Given the description of an element on the screen output the (x, y) to click on. 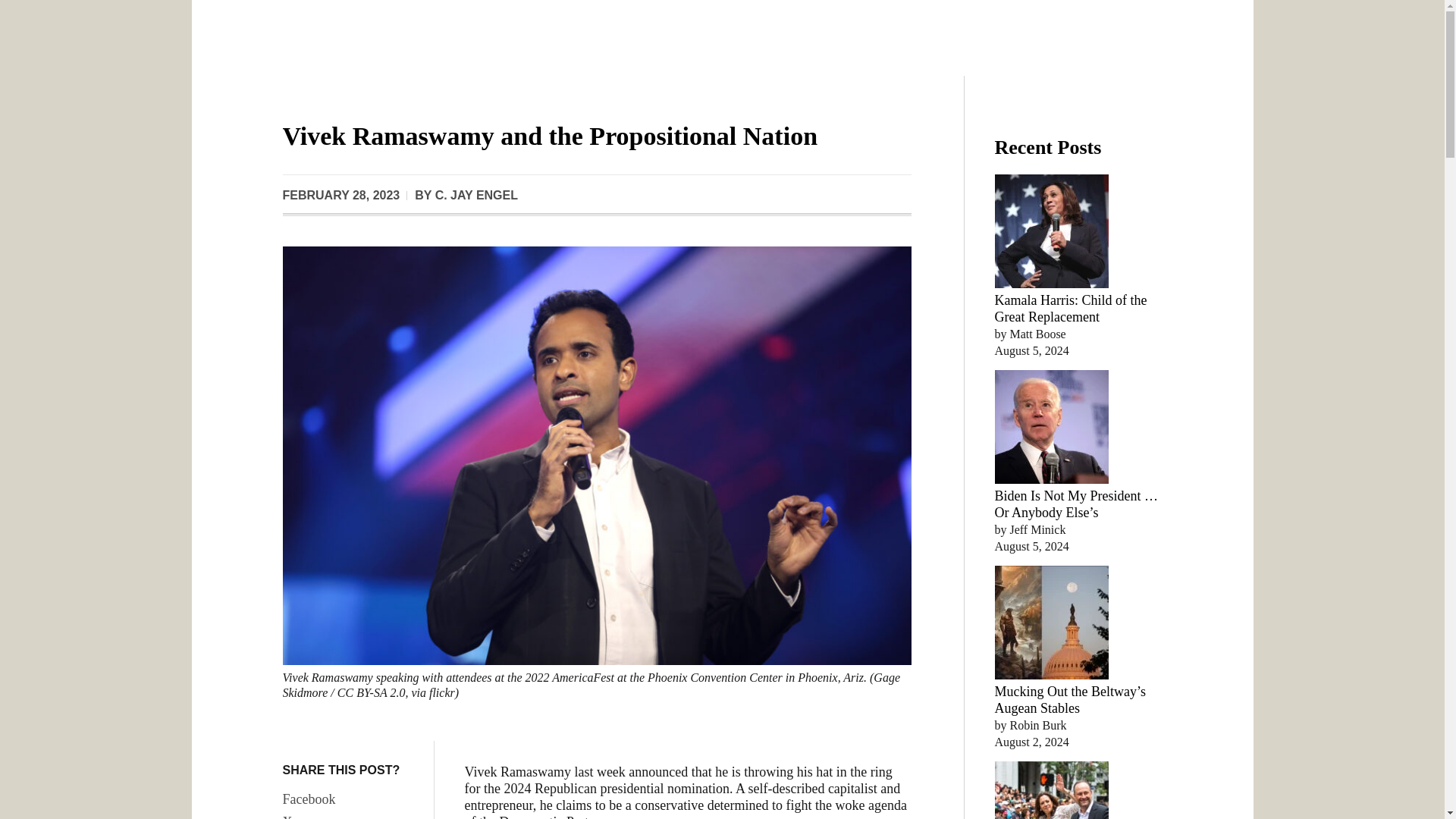
C. JAY ENGEL (476, 195)
X (349, 815)
Facebook (349, 798)
Posts by C. Jay Engel (476, 195)
Kamala Harris: Child of the Great Replacement (1070, 308)
February 28, 2023 (340, 195)
